Given the description of an element on the screen output the (x, y) to click on. 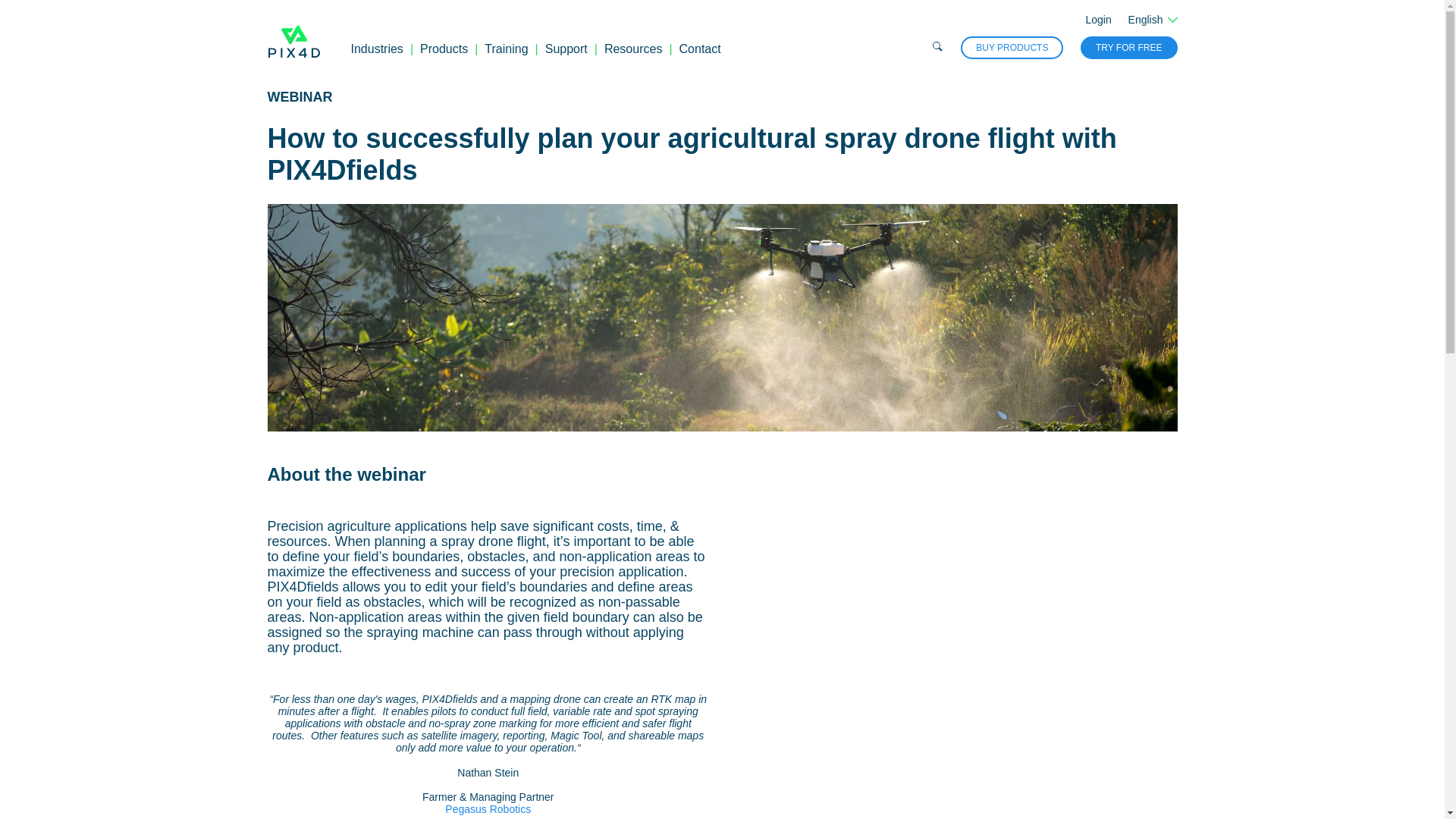
Contact (699, 48)
Resources (633, 48)
Industries (376, 48)
Support (566, 48)
Training (505, 48)
Products (443, 48)
